Given the description of an element on the screen output the (x, y) to click on. 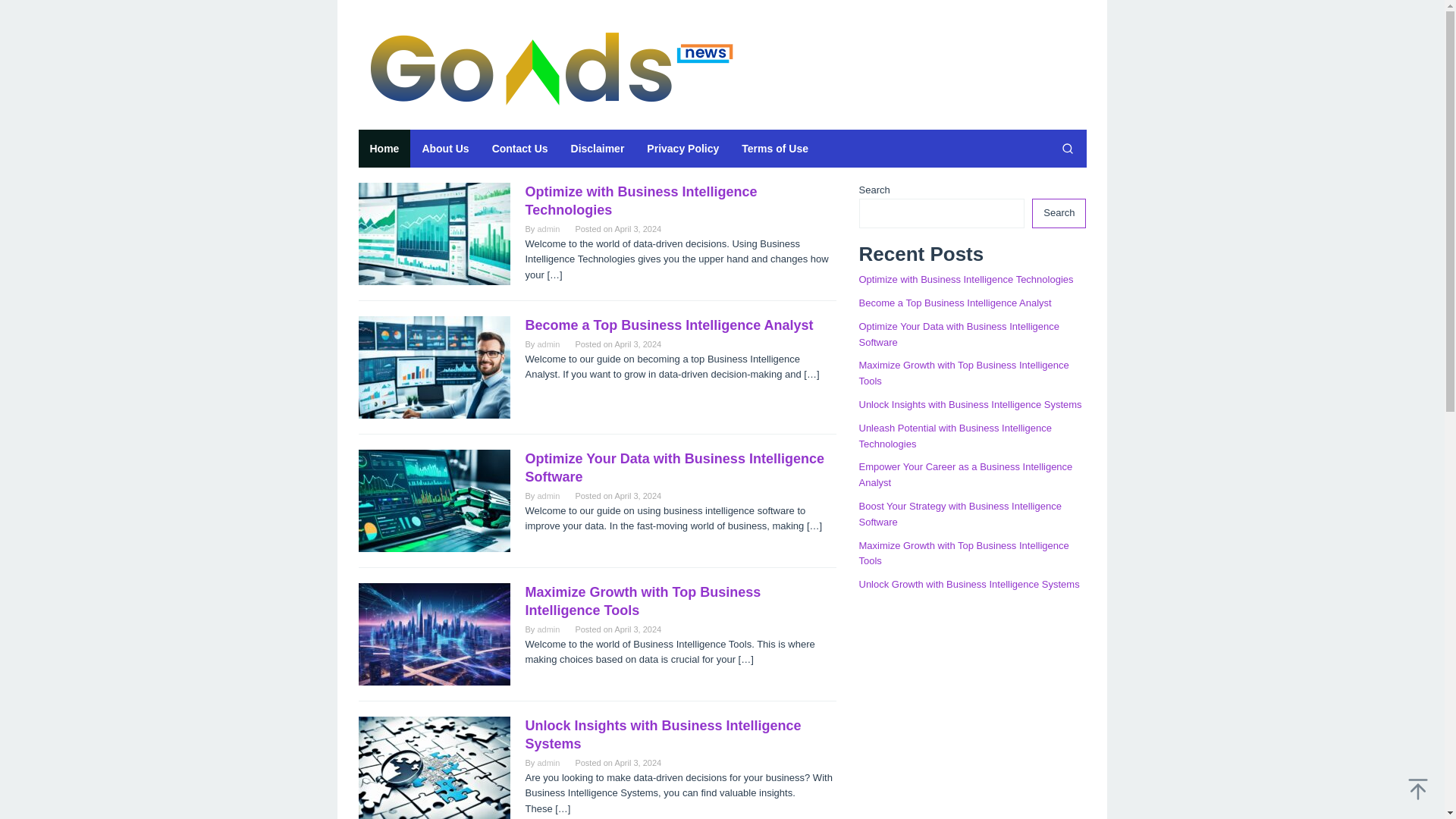
Become a Top Business Intelligence Analyst (668, 324)
Permalink to: admin (548, 343)
admin (548, 628)
admin (548, 228)
Business-Intelligence-Tools-38 (433, 634)
Maximize Growth with Top Business Intelligence Tools (642, 601)
Permalink to: admin (548, 228)
Unlock Insights with Business Intelligence Systems (662, 734)
Become a Top Business Intelligence Analyst (668, 324)
